Given the description of an element on the screen output the (x, y) to click on. 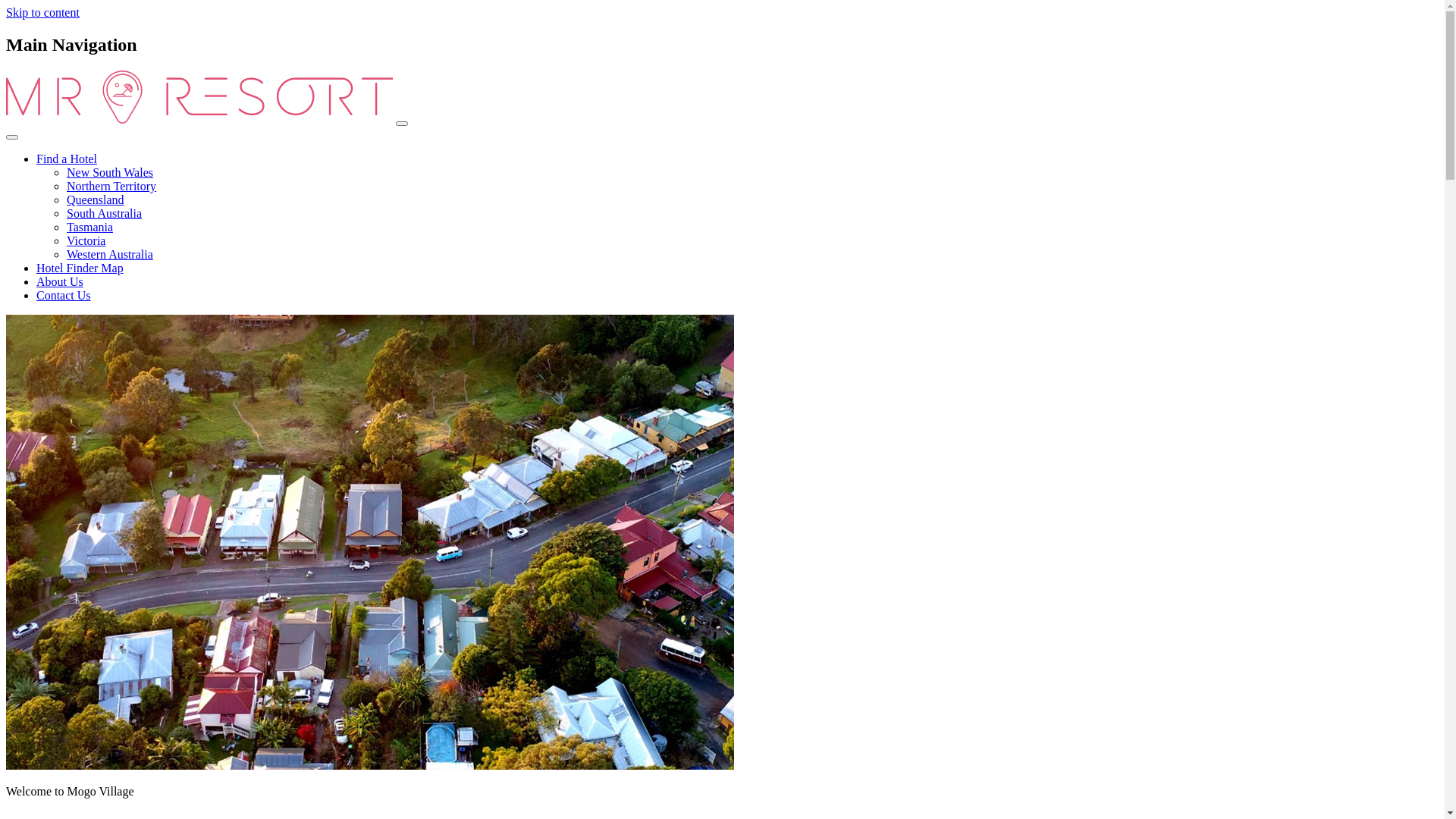
Tasmania Element type: text (89, 226)
Victoria Element type: text (85, 240)
Find a Hotel Element type: text (66, 158)
Contact Us Element type: text (63, 294)
Northern Territory Element type: text (111, 185)
Queensland Element type: text (95, 199)
Hotel Finder Map Element type: text (79, 267)
Skip to content Element type: text (42, 12)
About Us Element type: text (59, 281)
Western Australia Element type: text (109, 253)
New South Wales Element type: text (109, 172)
South Australia Element type: text (103, 213)
